Given the description of an element on the screen output the (x, y) to click on. 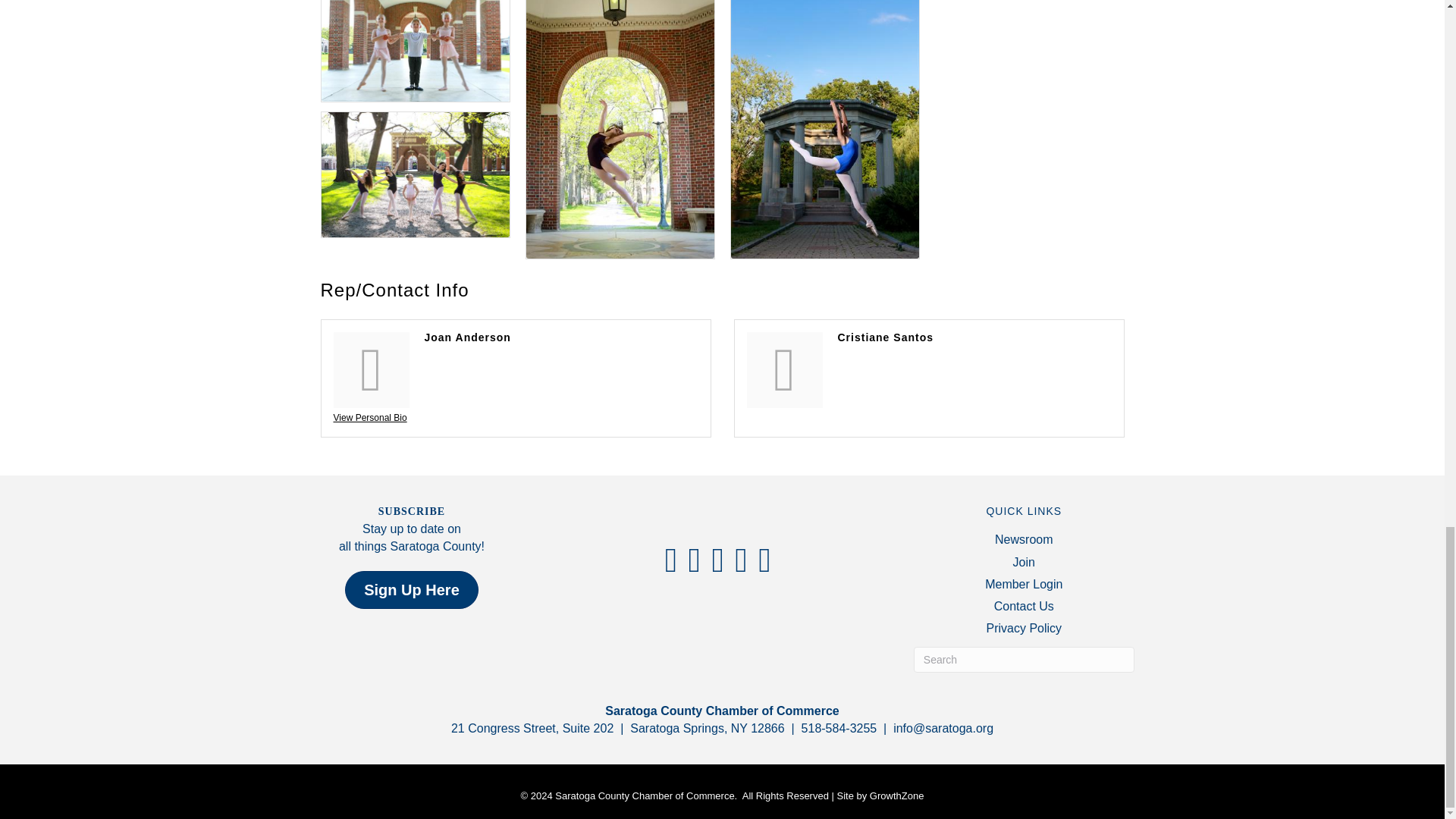
Susan Blackburn Photography (415, 50)
Susan Blackburn Photography (415, 174)
